Given the description of an element on the screen output the (x, y) to click on. 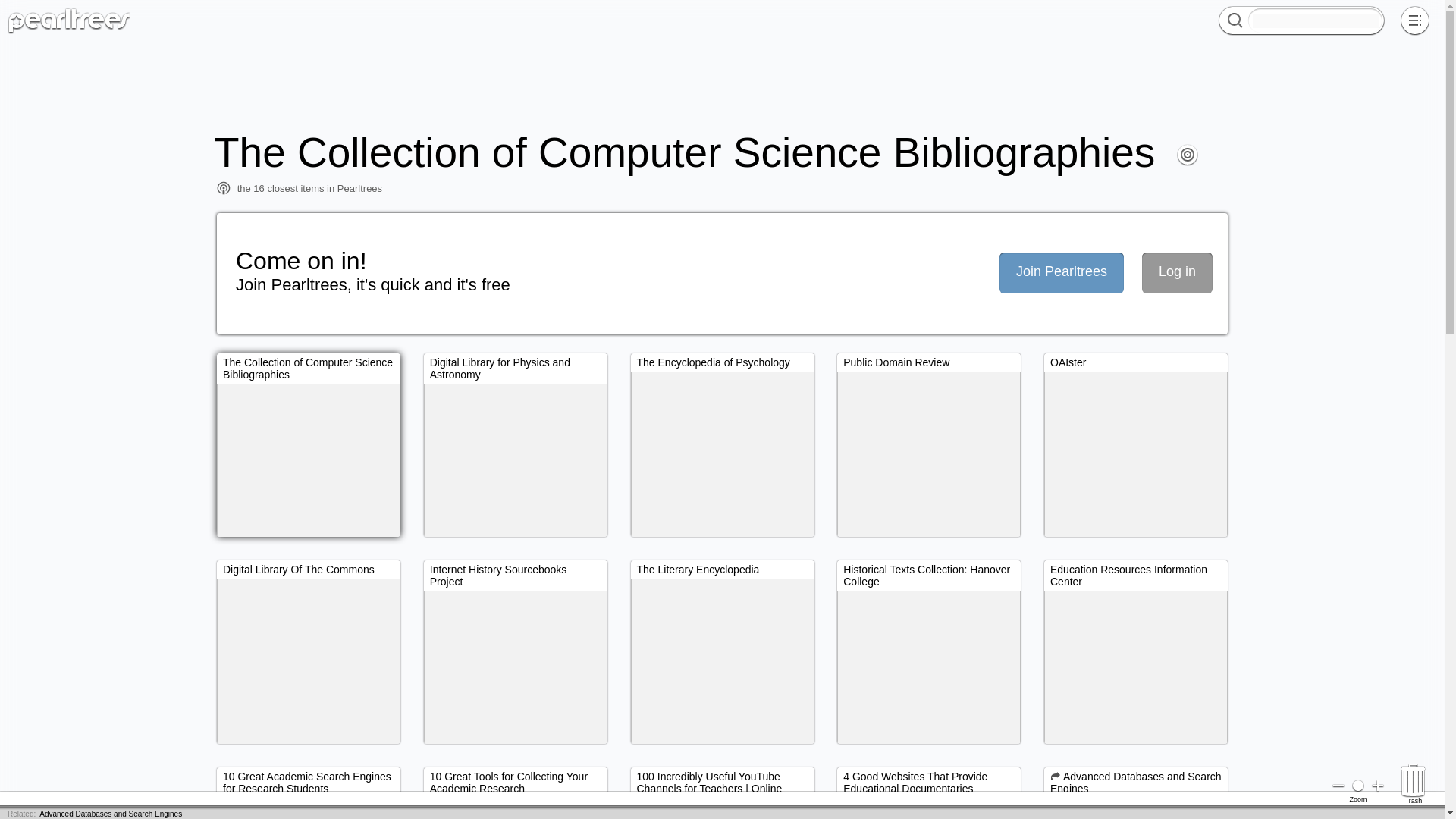
Advanced Databases and Search Engines (110, 813)
